Given the description of an element on the screen output the (x, y) to click on. 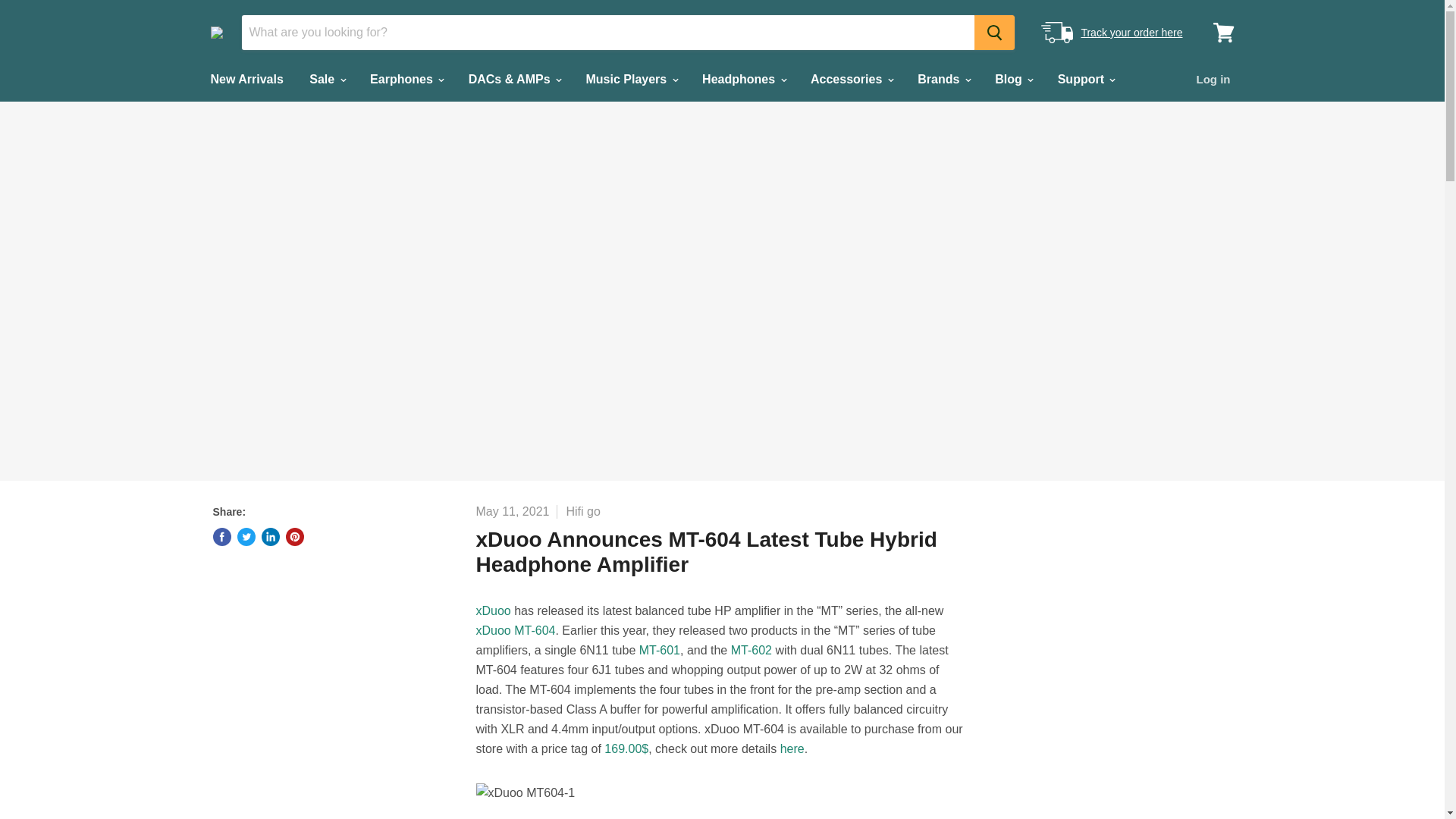
New Arrivals (246, 79)
xDuoo MT-602 (750, 649)
xDuoo MT-601 (659, 649)
xDuoo MT-604 (516, 630)
View cart (1223, 32)
xDuoo MT-604 (792, 748)
xDuoo MT-604 (625, 748)
Track your order here (1131, 32)
Earphones (405, 79)
Sale (326, 79)
